Given the description of an element on the screen output the (x, y) to click on. 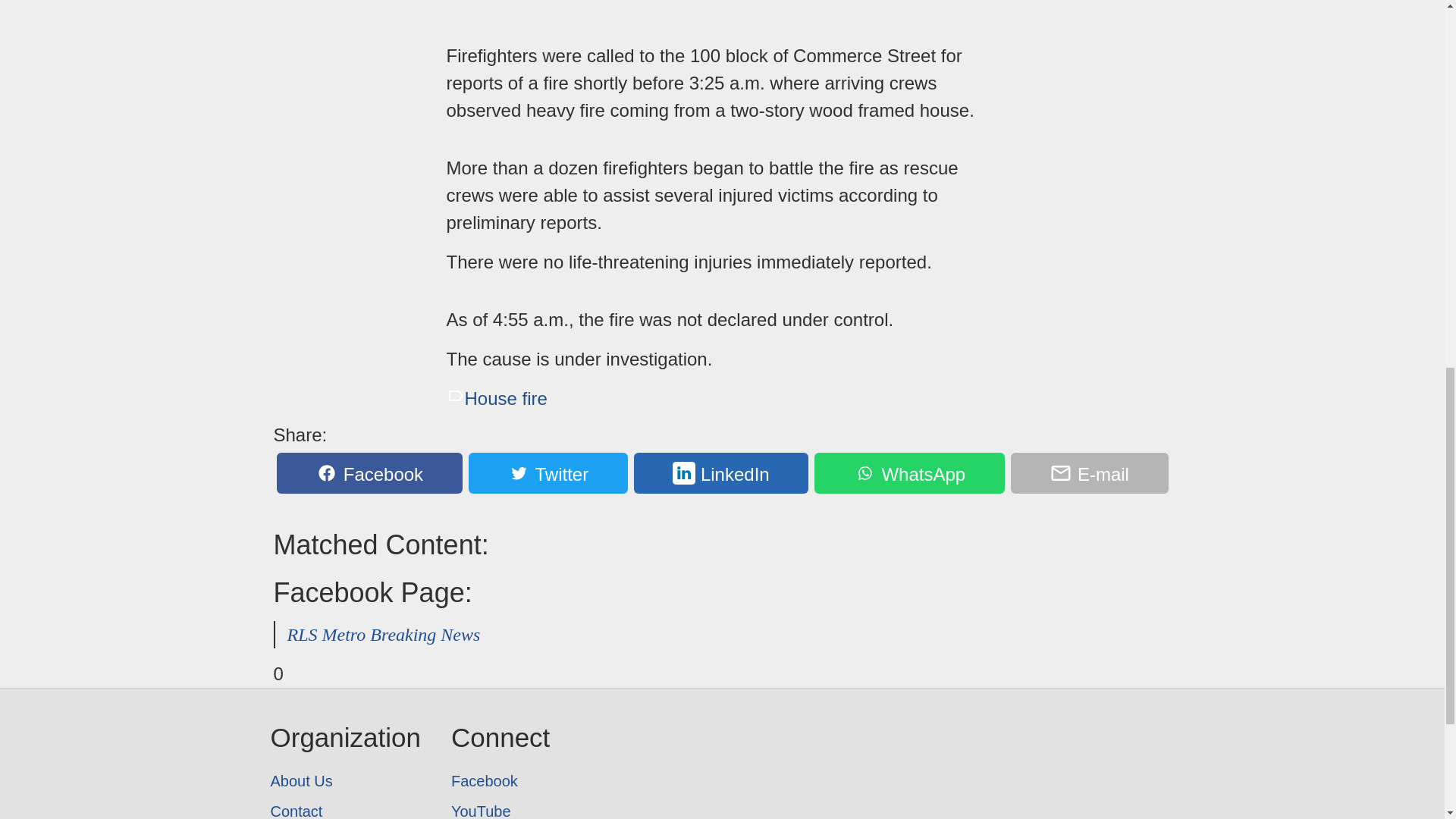
Contact Us (344, 807)
Facebook (368, 472)
View our latest videos (500, 807)
WhatsApp (908, 472)
LinkedIn (721, 472)
House fire (496, 398)
YouTube (500, 807)
Facebook (500, 780)
About Us (344, 780)
RLS Metro Breaking News (383, 634)
E-mail (1089, 472)
Contact (344, 807)
Twitter (547, 472)
Facebook Page (500, 780)
Advertisement (721, 15)
